Given the description of an element on the screen output the (x, y) to click on. 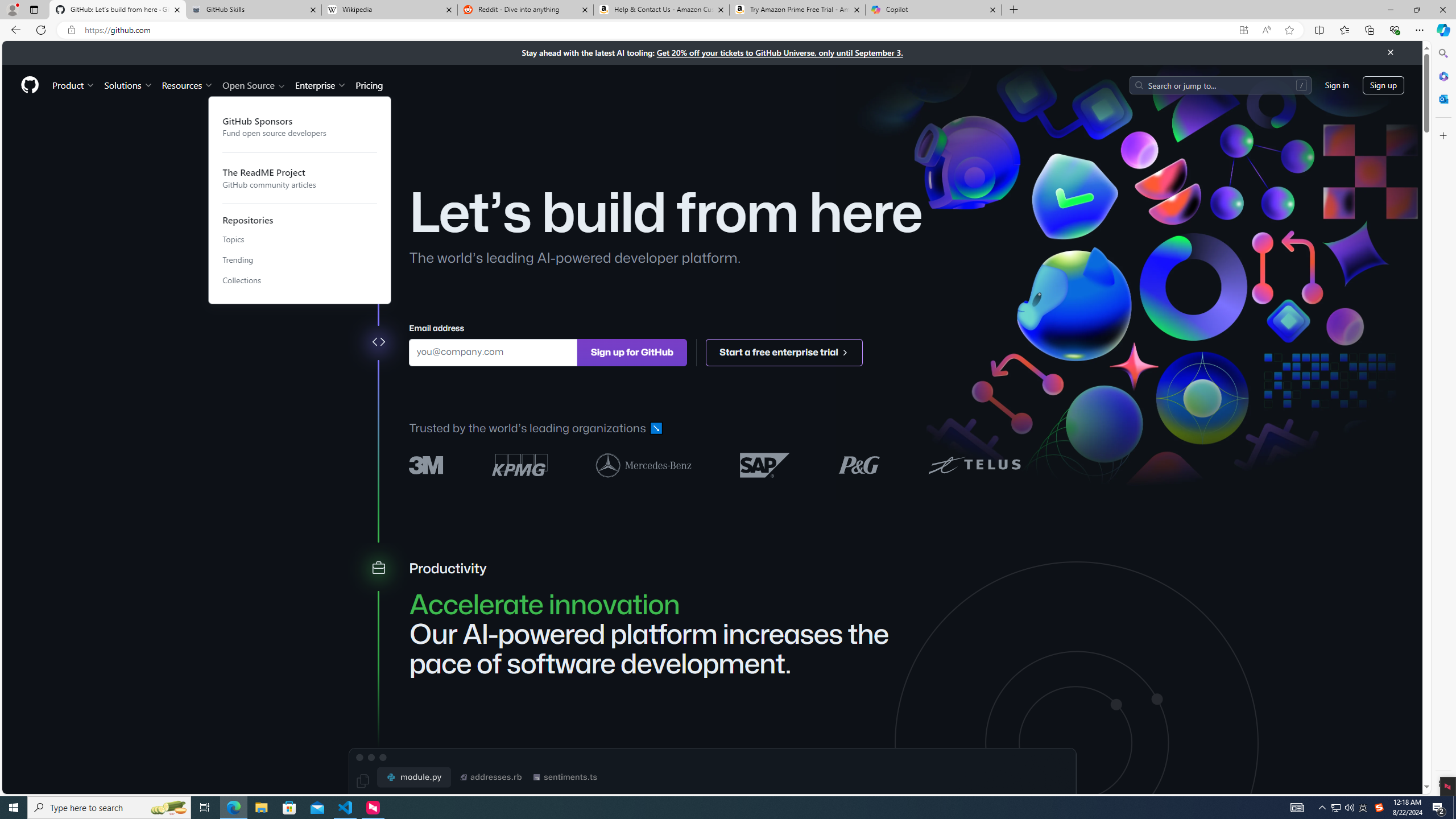
P&G logo (858, 464)
Class: octicon arrow-symbol-mktg (845, 352)
Email address (492, 352)
Copilot (933, 9)
Address and search bar (658, 29)
Sign in (1336, 84)
Help & Contact Us - Amazon Customer Service (660, 9)
SAP logo (764, 464)
Wikipedia (390, 9)
